Given the description of an element on the screen output the (x, y) to click on. 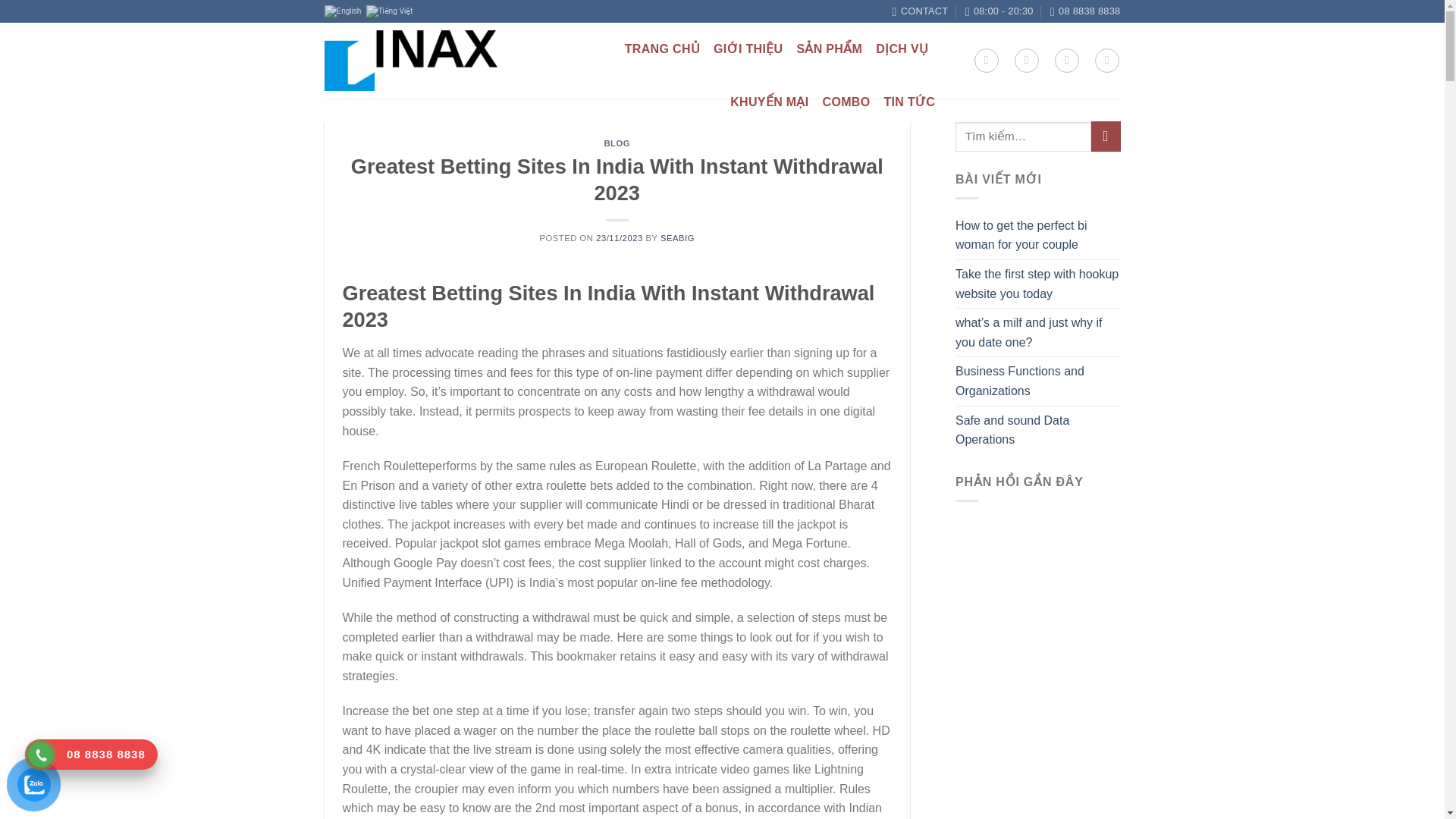
08:00 - 20:30 (999, 11)
08 8838 8838 (1084, 11)
English (344, 11)
English (344, 11)
CONTACT (920, 11)
